Given the description of an element on the screen output the (x, y) to click on. 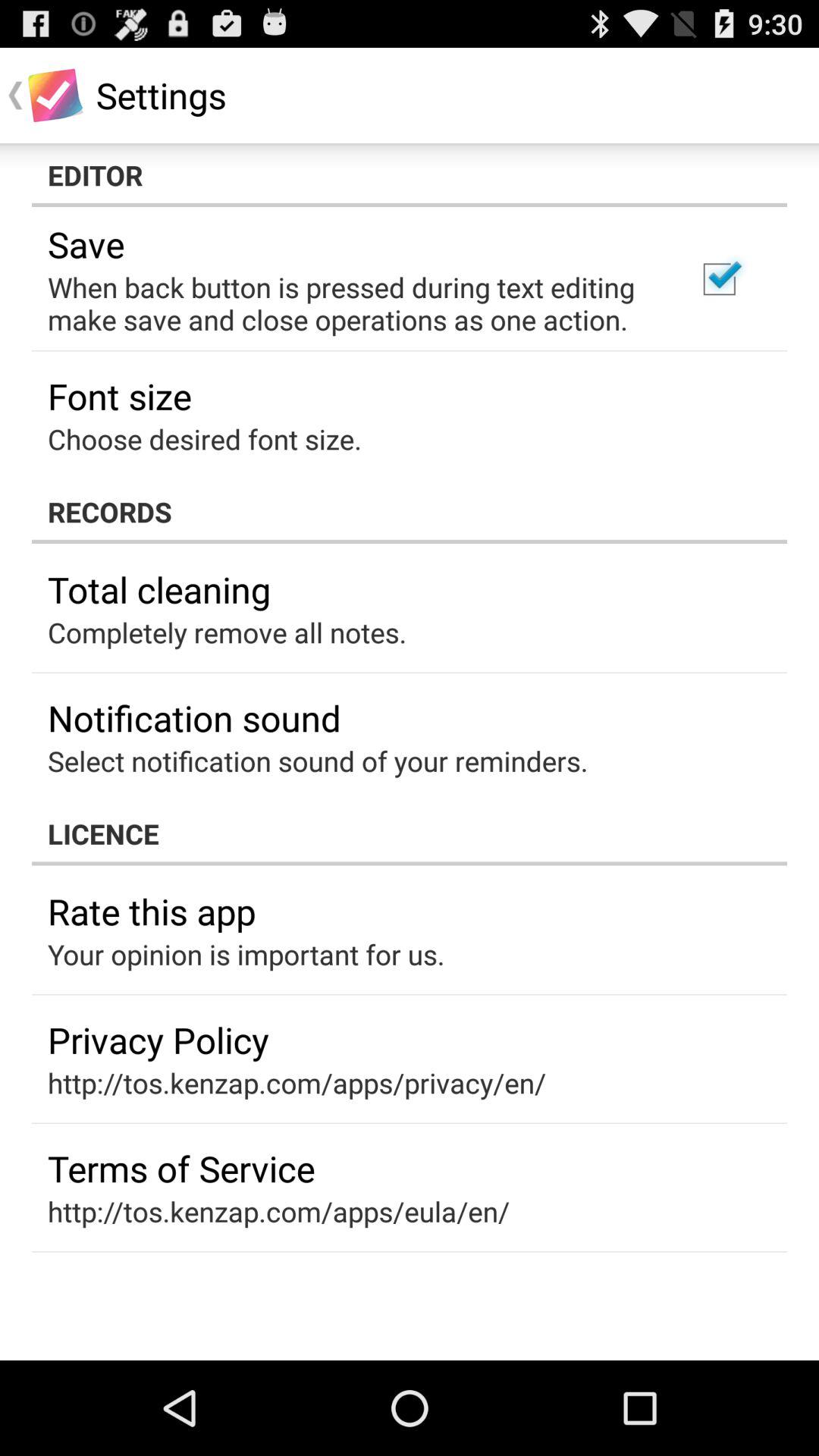
jump to the licence app (409, 833)
